Given the description of an element on the screen output the (x, y) to click on. 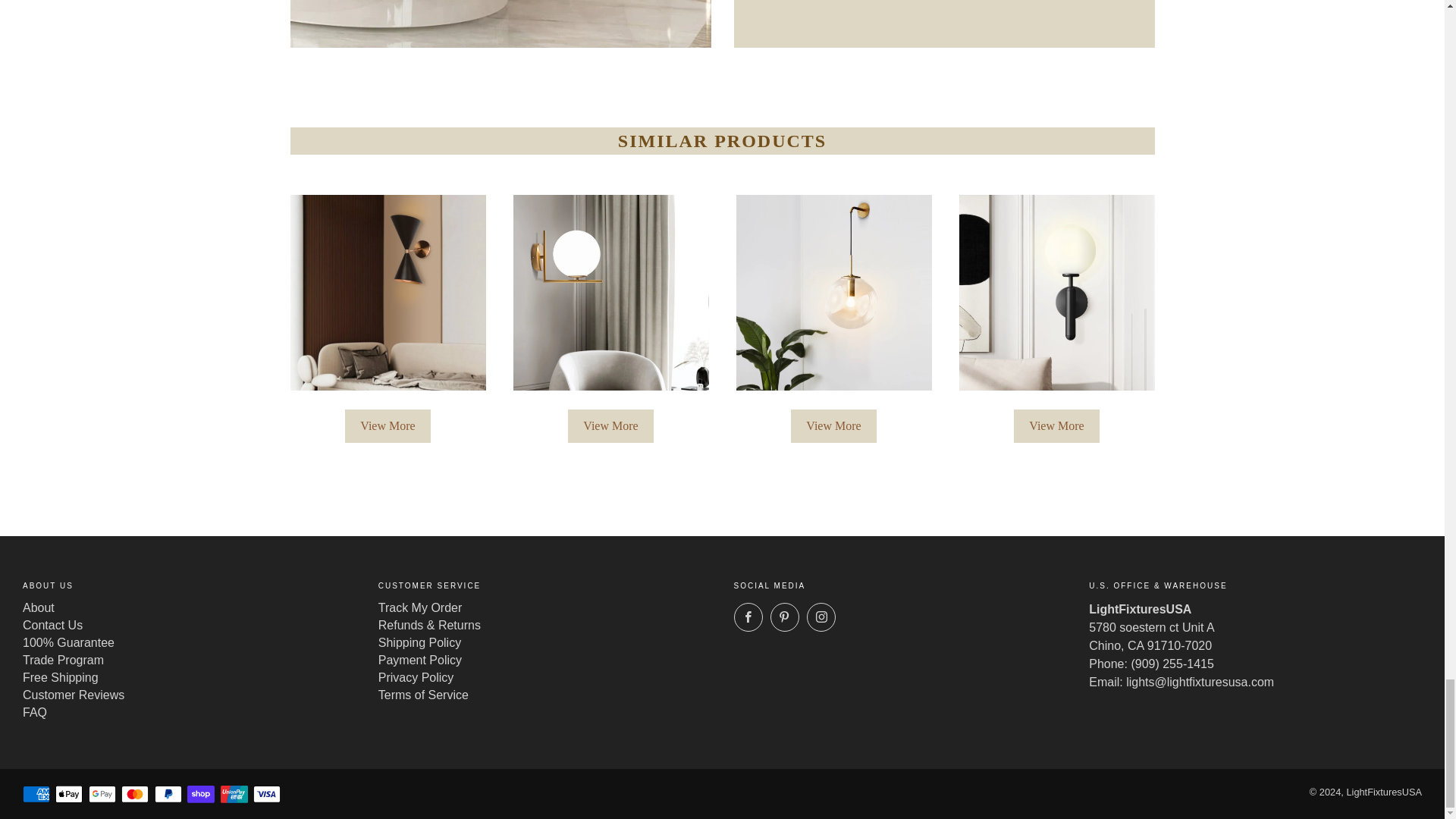
Globe Brass Hanging Wall Sconce (833, 292)
